Given the description of an element on the screen output the (x, y) to click on. 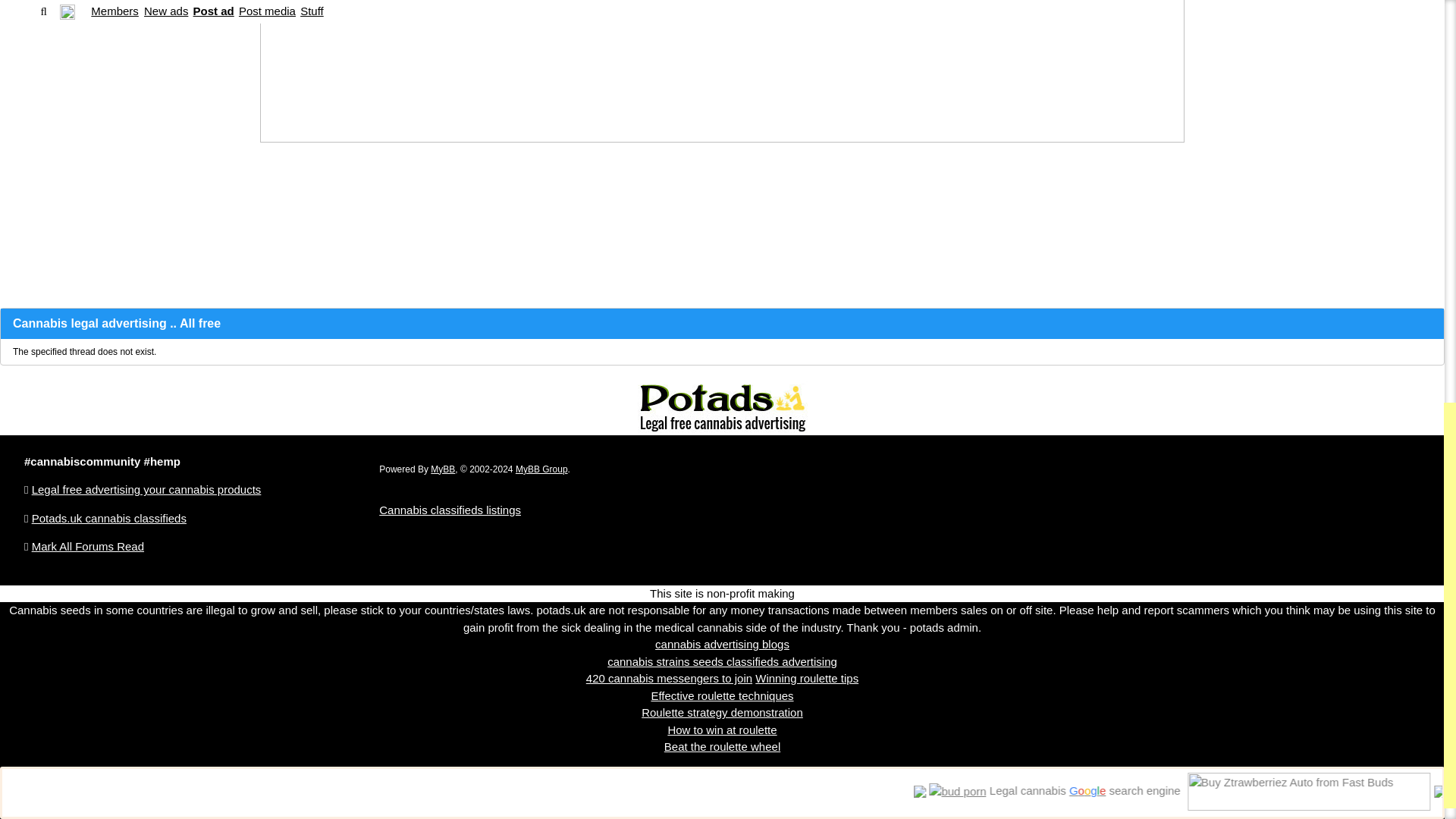
420 blogs to read (722, 644)
cannabis messenger (669, 677)
420 legal adverts (722, 661)
